Given the description of an element on the screen output the (x, y) to click on. 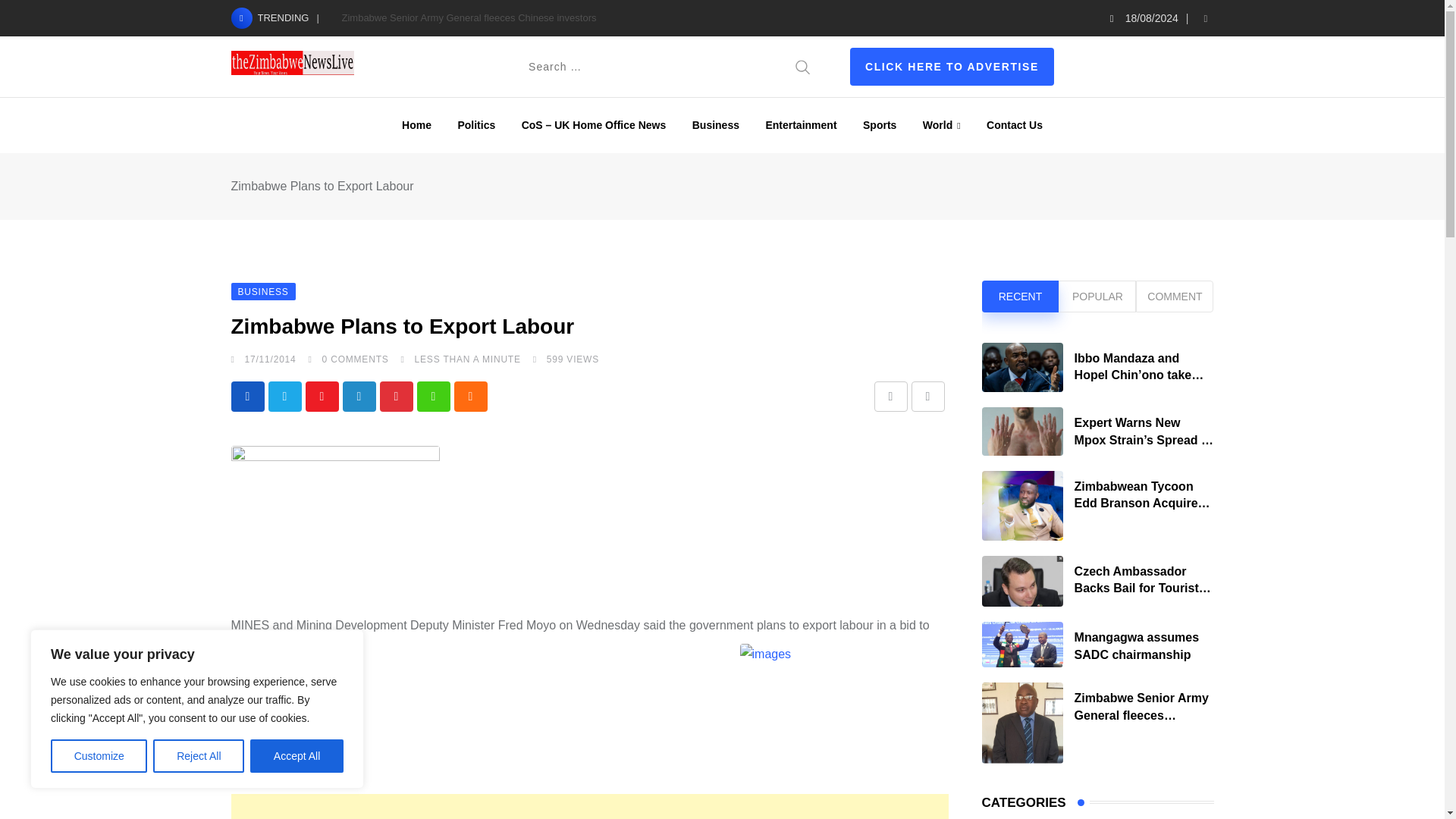
Advertisement (588, 806)
Contact Us (1014, 124)
World (941, 125)
Home (416, 124)
Reject All (198, 756)
Zimbabwe Senior Army General fleeces Chinese investors (1021, 722)
Entertainment (800, 124)
Zimbabwe Senior Army General fleeces Chinese investors (467, 17)
